Given the description of an element on the screen output the (x, y) to click on. 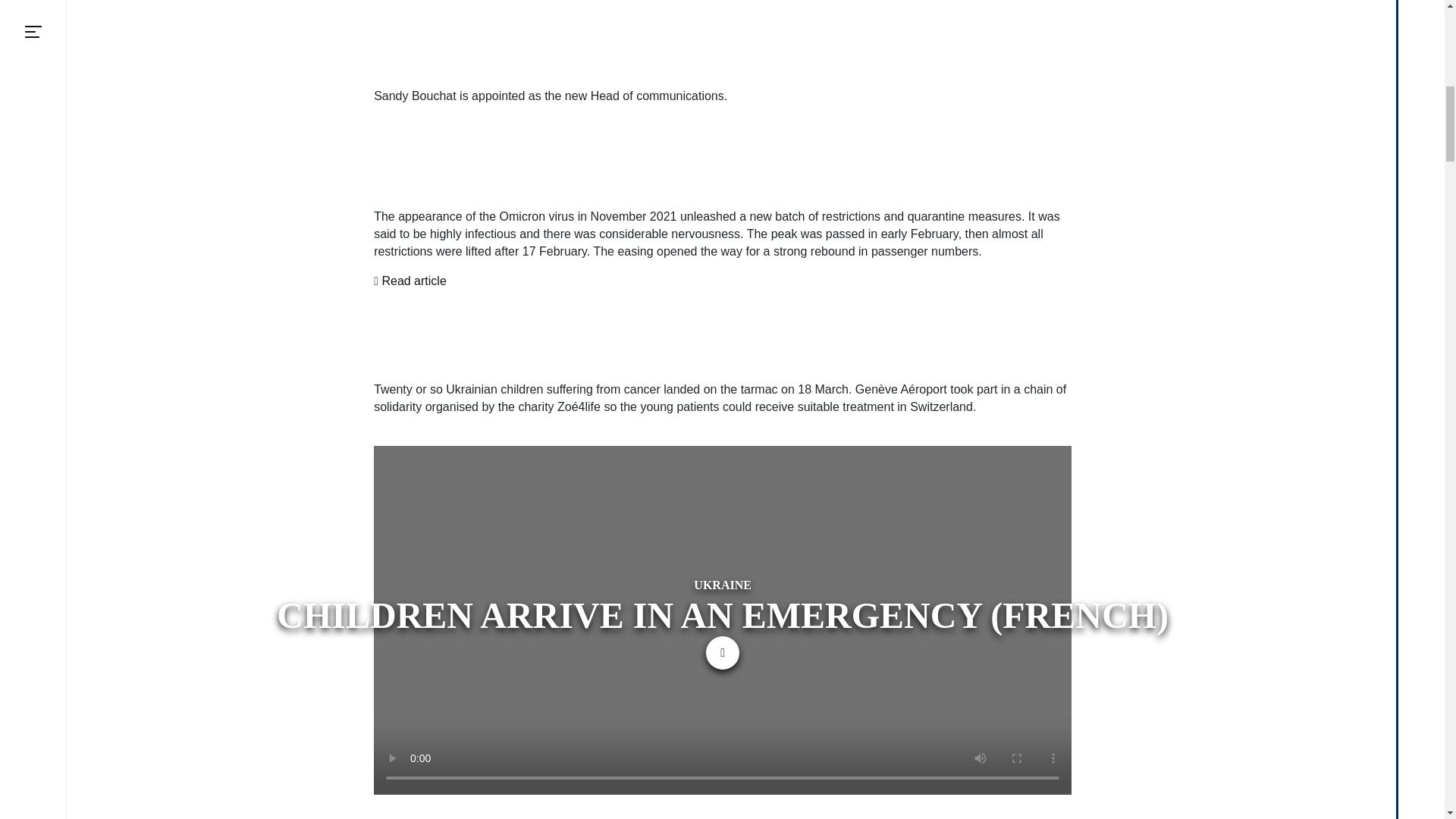
Read article (413, 280)
